Given the description of an element on the screen output the (x, y) to click on. 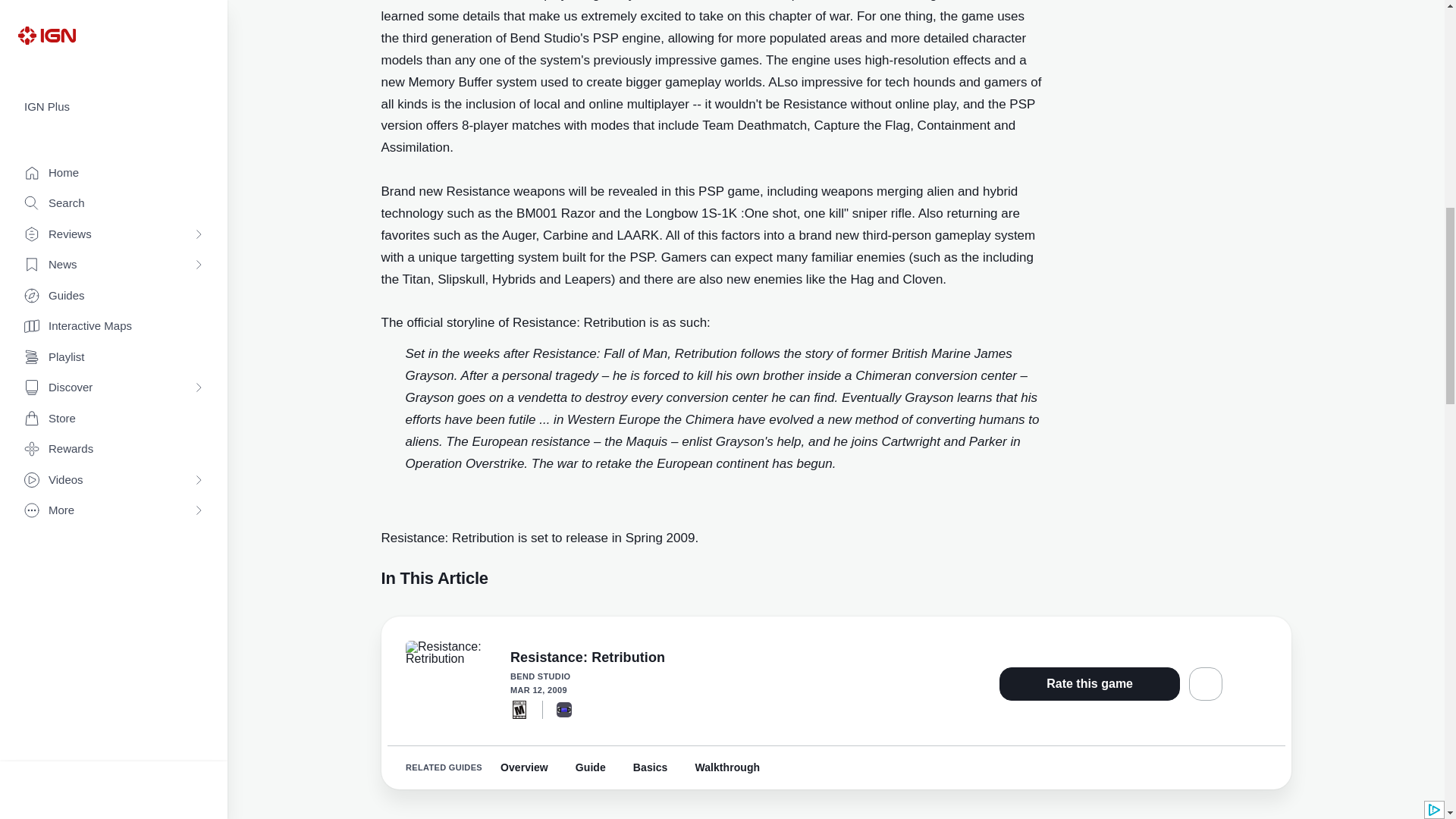
PlayStation Portable (564, 708)
ESRB: Mature (518, 709)
